Given the description of an element on the screen output the (x, y) to click on. 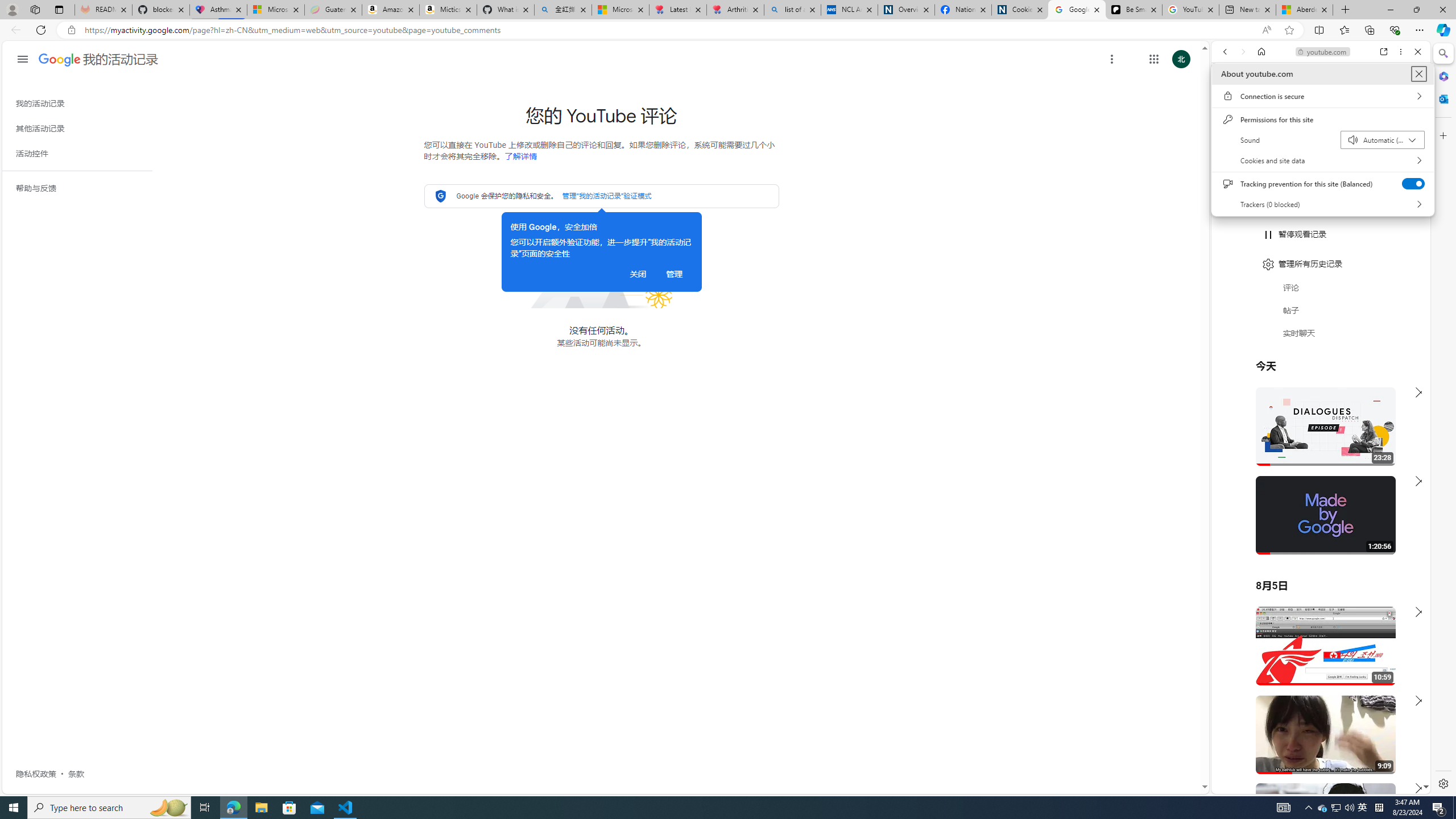
Arthritis: Ask Health Professionals (734, 9)
Trailer #2 [HD] (1320, 336)
Sound Automatic (default) (1382, 140)
Class: gb_Vc (1335, 807)
Notification Chevron (81, 434)
